Given the description of an element on the screen output the (x, y) to click on. 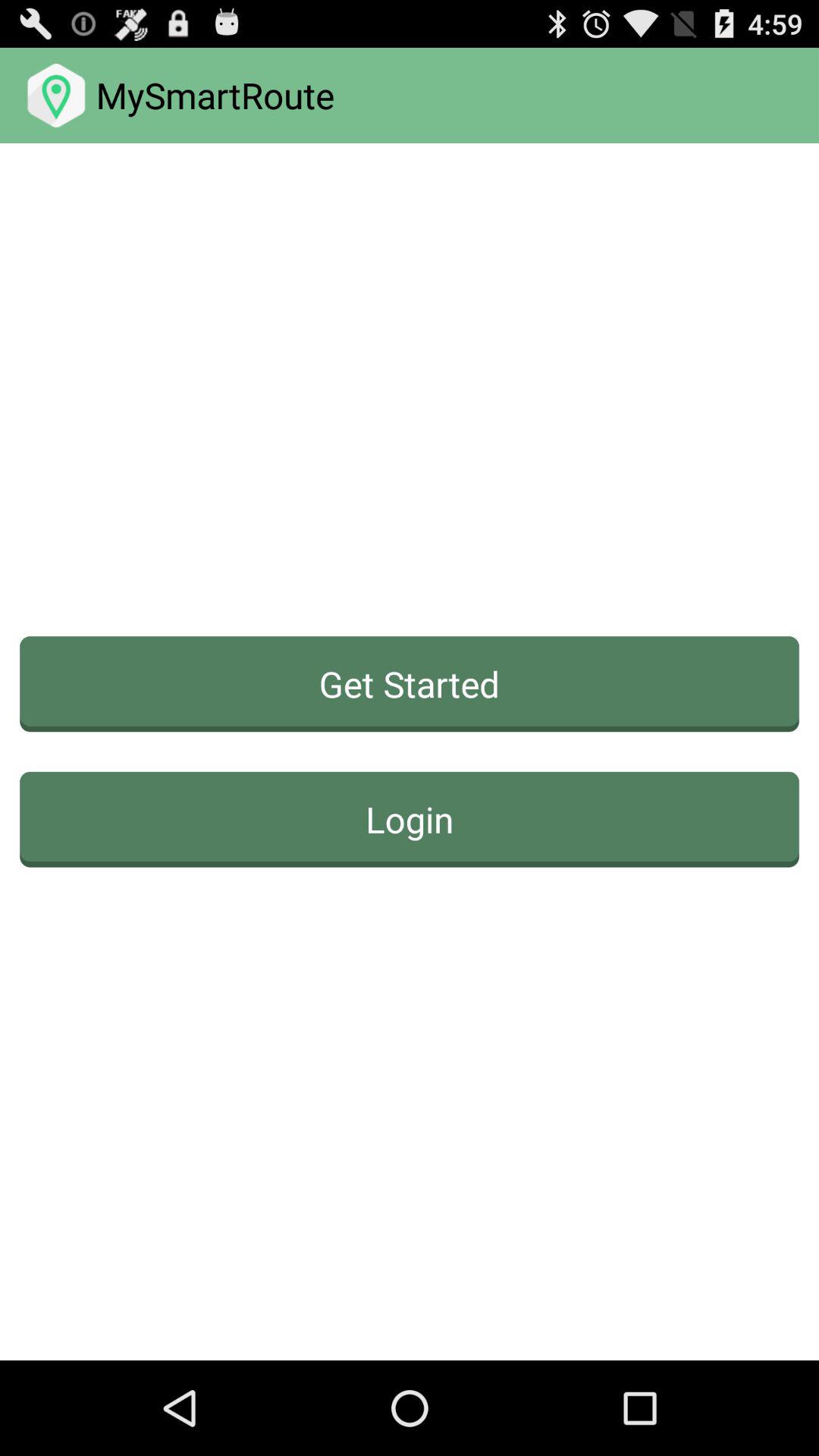
flip to the login item (409, 819)
